Given the description of an element on the screen output the (x, y) to click on. 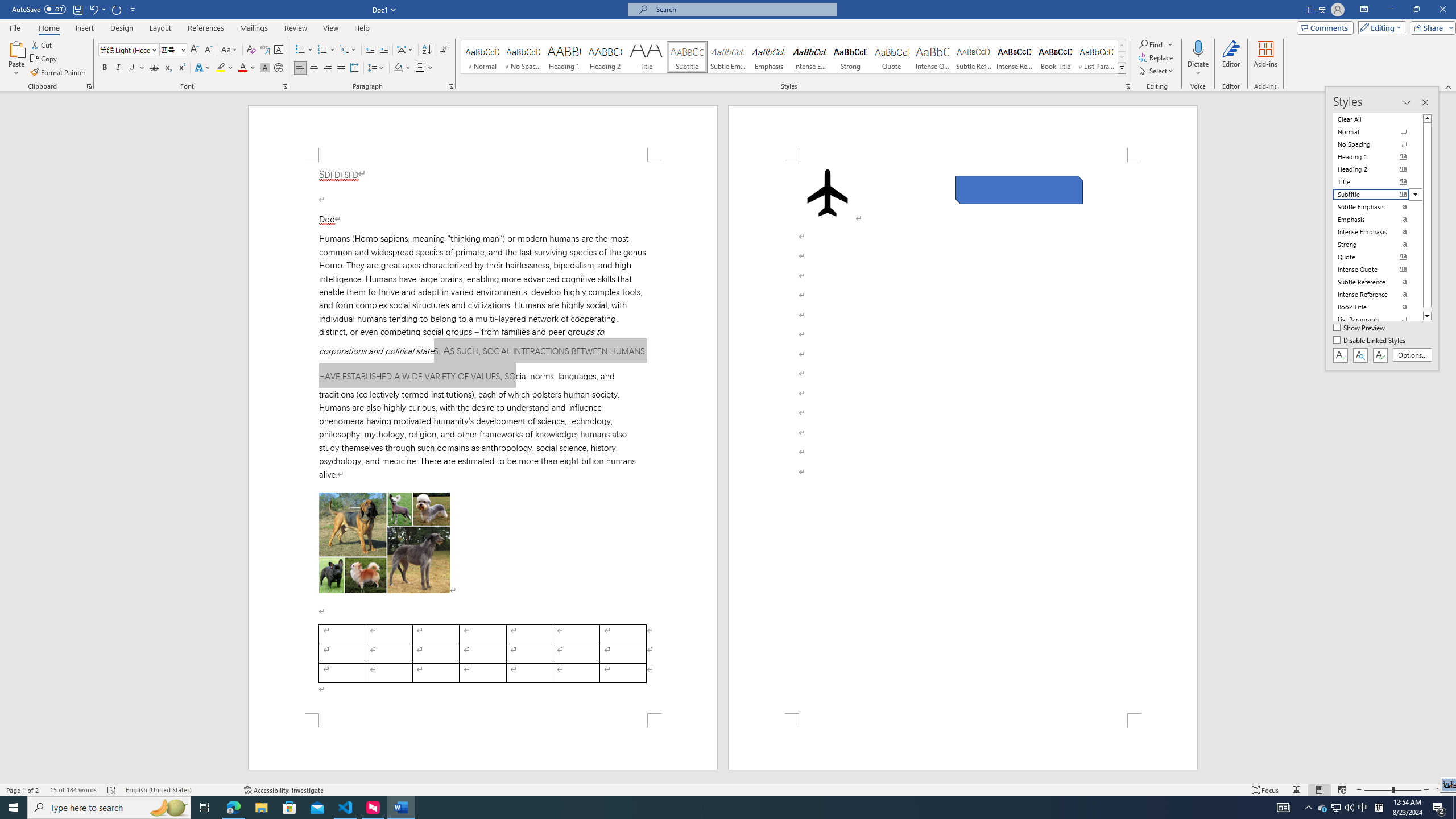
Home (48, 28)
Styles... (1127, 85)
Design (122, 28)
Subtitle (686, 56)
Multilevel List (347, 49)
Strikethrough (154, 67)
Borders (424, 67)
Font Size (169, 49)
Text Effects and Typography (202, 67)
Mailings (253, 28)
Task Pane Options (1406, 101)
Undo Style (96, 9)
Font (128, 49)
Airplane with solid fill (827, 192)
Find (1151, 44)
